Given the description of an element on the screen output the (x, y) to click on. 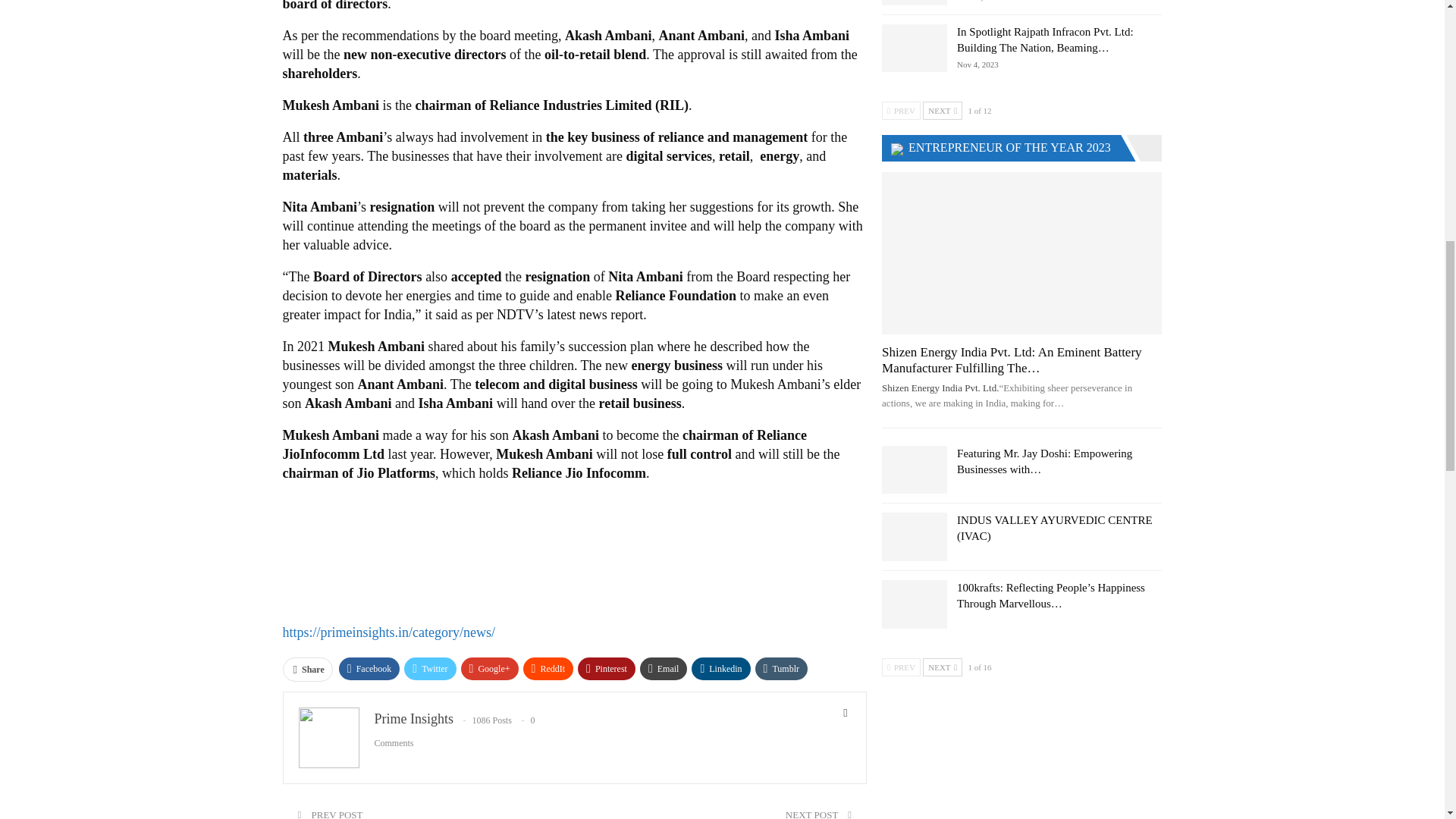
Facebook (369, 668)
Twitter (429, 668)
